Given the description of an element on the screen output the (x, y) to click on. 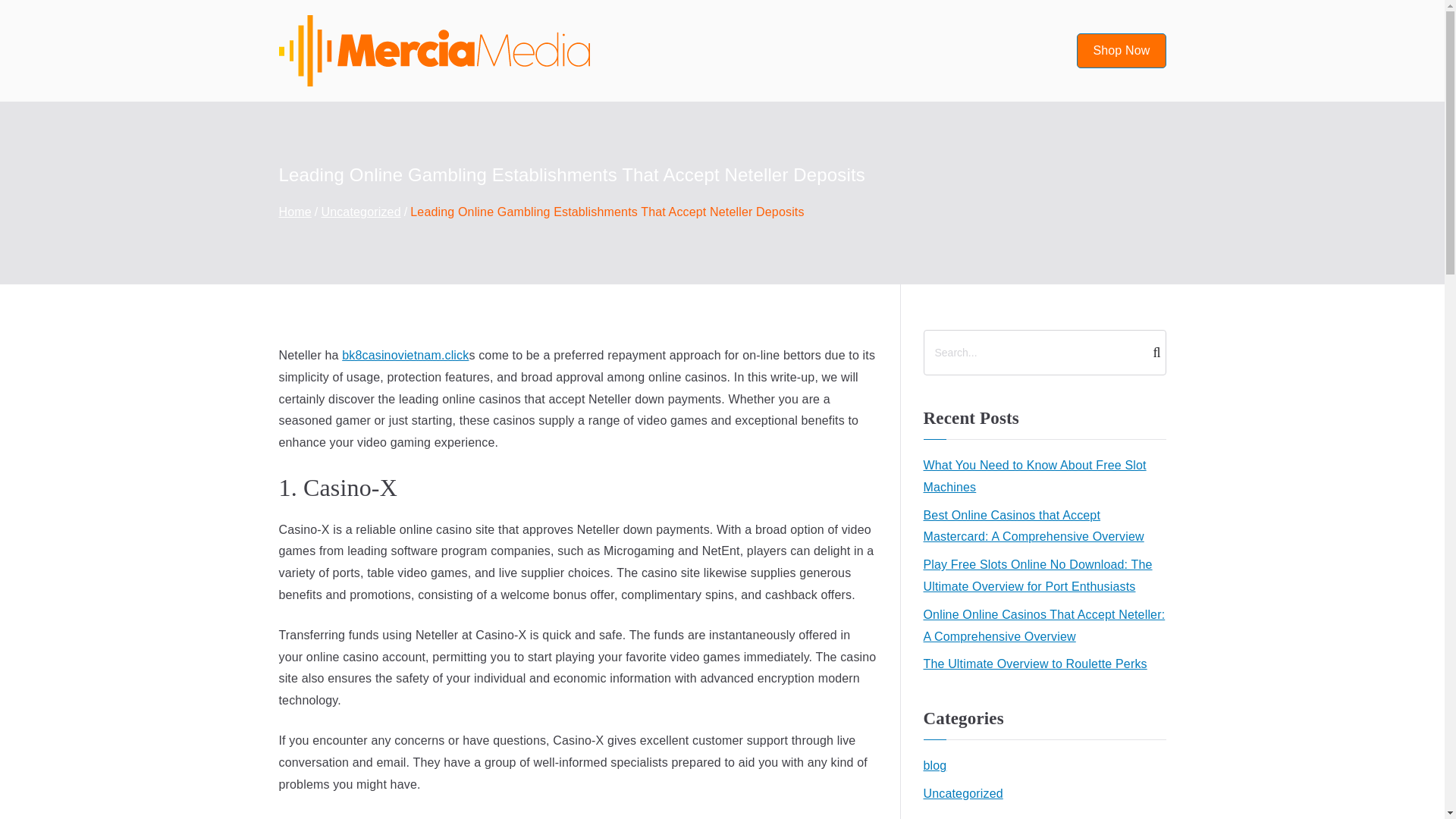
Uncategorized (360, 211)
The Ultimate Overview to Roulette Perks (1035, 664)
Uncategorized (963, 793)
What You Need to Know About Free Slot Machines (1044, 476)
blog (935, 766)
bk8casinovietnam.click (405, 354)
Mercia Media (700, 70)
Home (295, 211)
Shop Now (1121, 50)
